Given the description of an element on the screen output the (x, y) to click on. 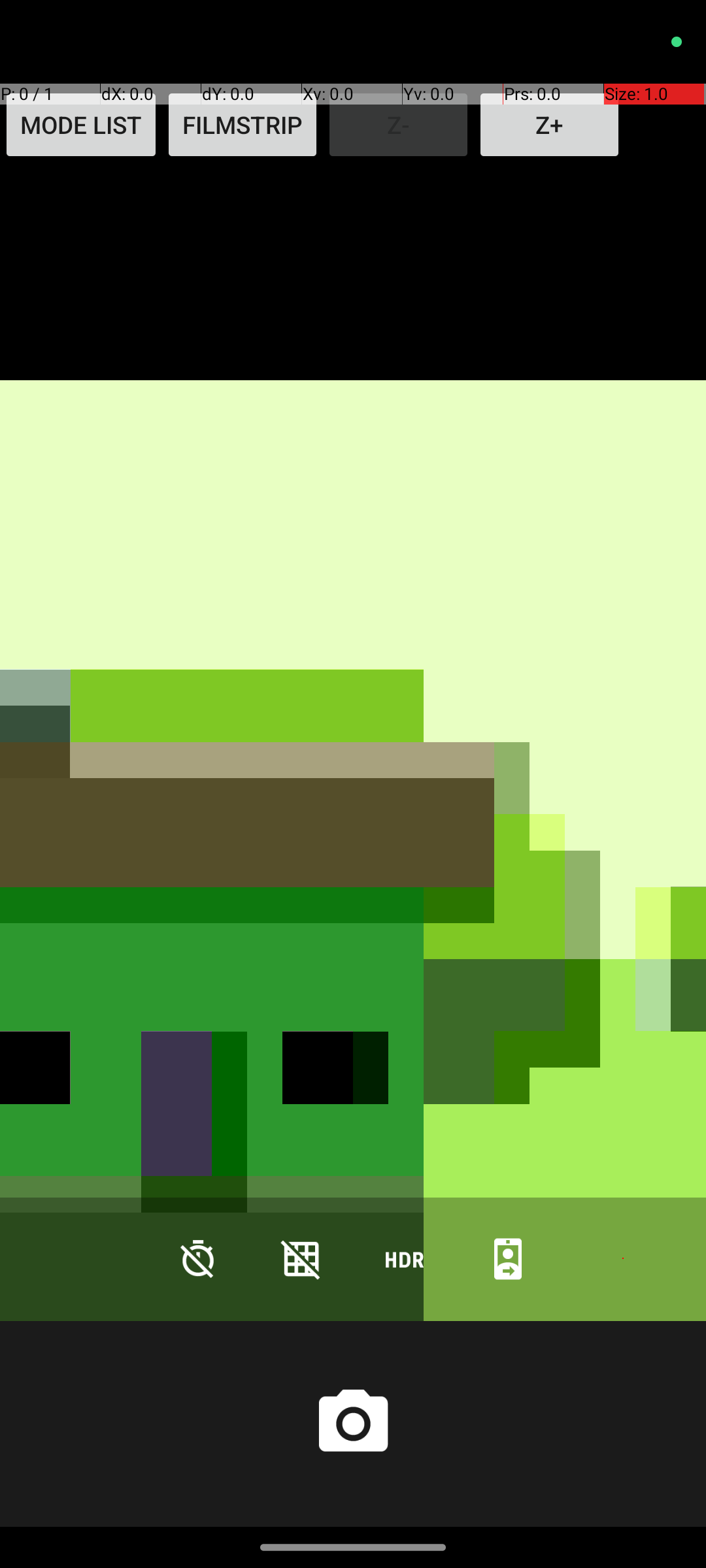
Countdown timer is off Element type: android.widget.ImageButton (197, 1258)
HDR on Element type: android.widget.ImageButton (404, 1258)
Front camera Element type: android.widget.ImageButton (507, 1258)
